Given the description of an element on the screen output the (x, y) to click on. 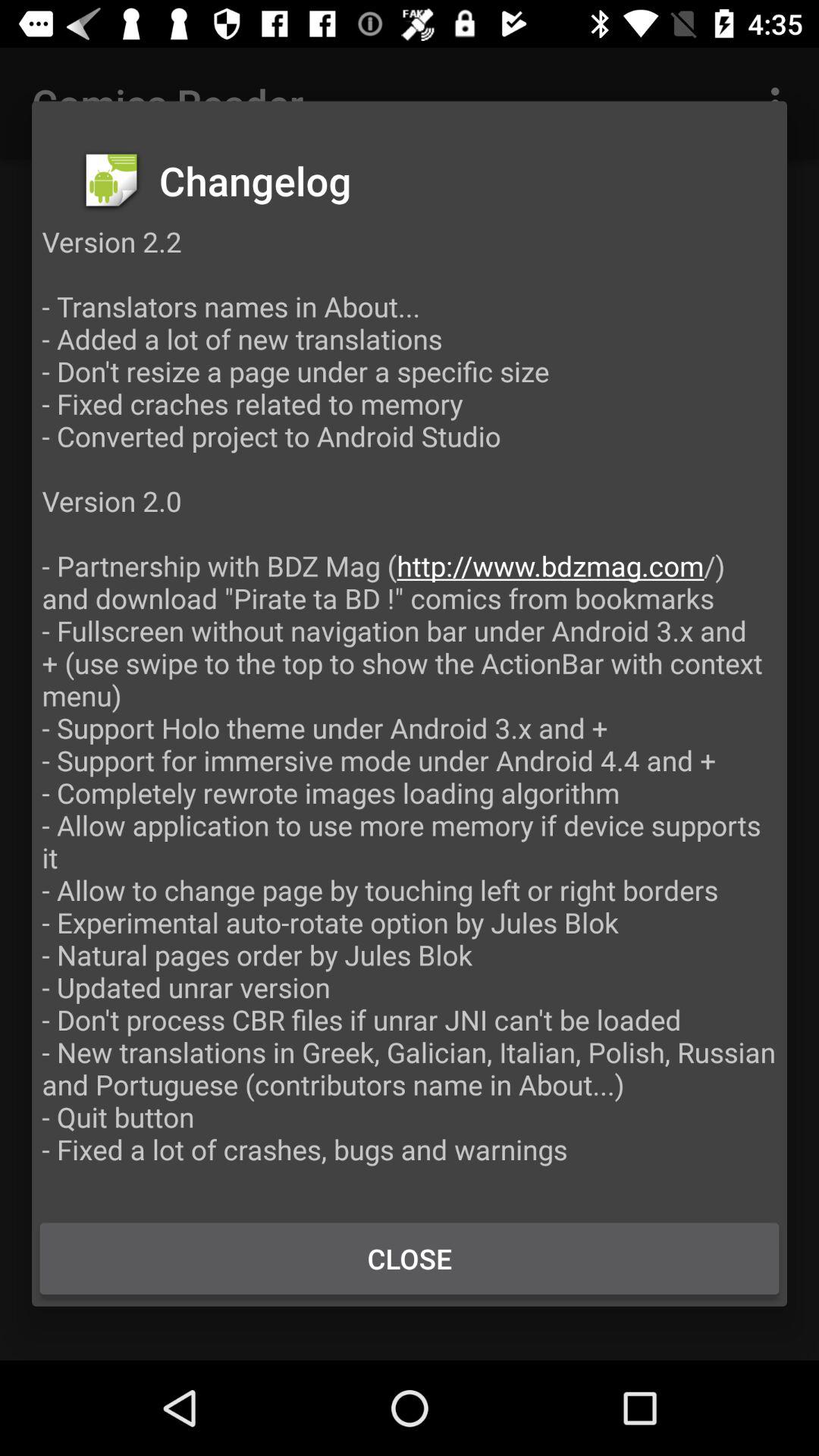
tap close button (409, 1258)
